Given the description of an element on the screen output the (x, y) to click on. 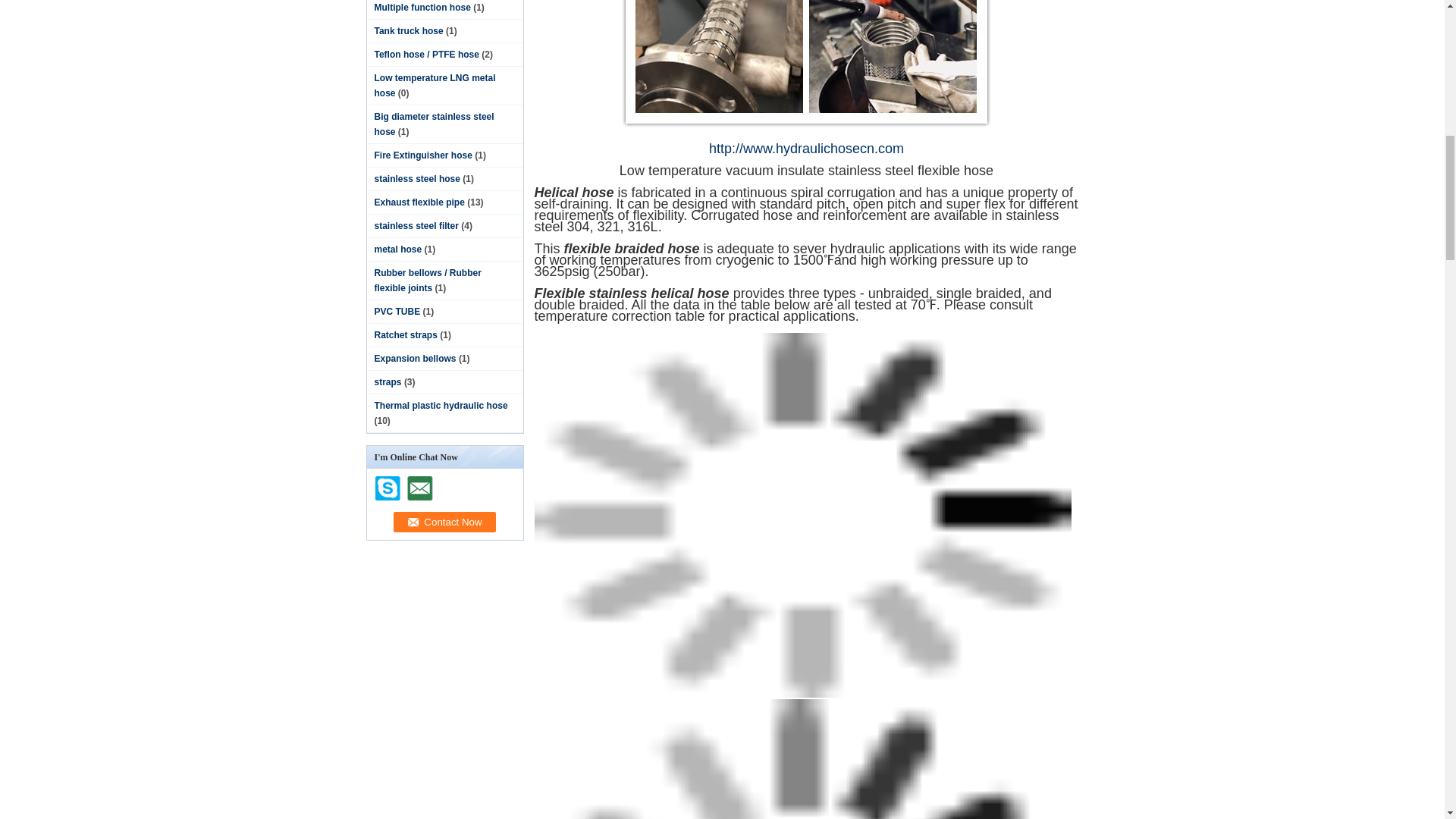
Contact Now (444, 521)
